Given the description of an element on the screen output the (x, y) to click on. 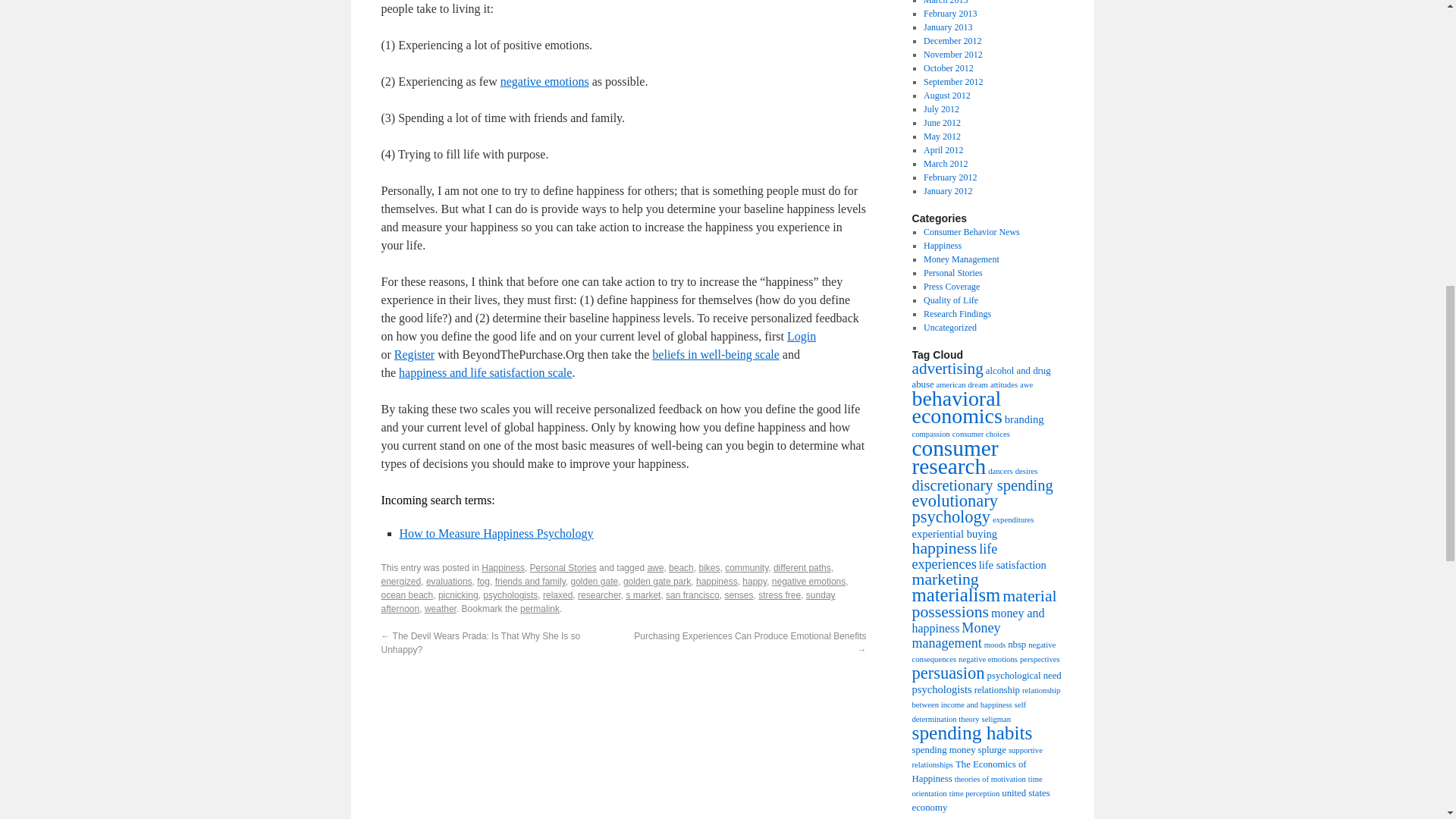
beach (681, 567)
How to Measure Happiness Psychology (495, 533)
negative emotions (808, 581)
fog (483, 581)
evaluations (448, 581)
energized (400, 581)
san francisco (692, 594)
researcher (599, 594)
happy (754, 581)
View all posts in Happiness (502, 567)
beliefs in well-being scale (715, 354)
picnicking (458, 594)
View all posts in Personal Stories (562, 567)
psychologists (510, 594)
Login (801, 336)
